Given the description of an element on the screen output the (x, y) to click on. 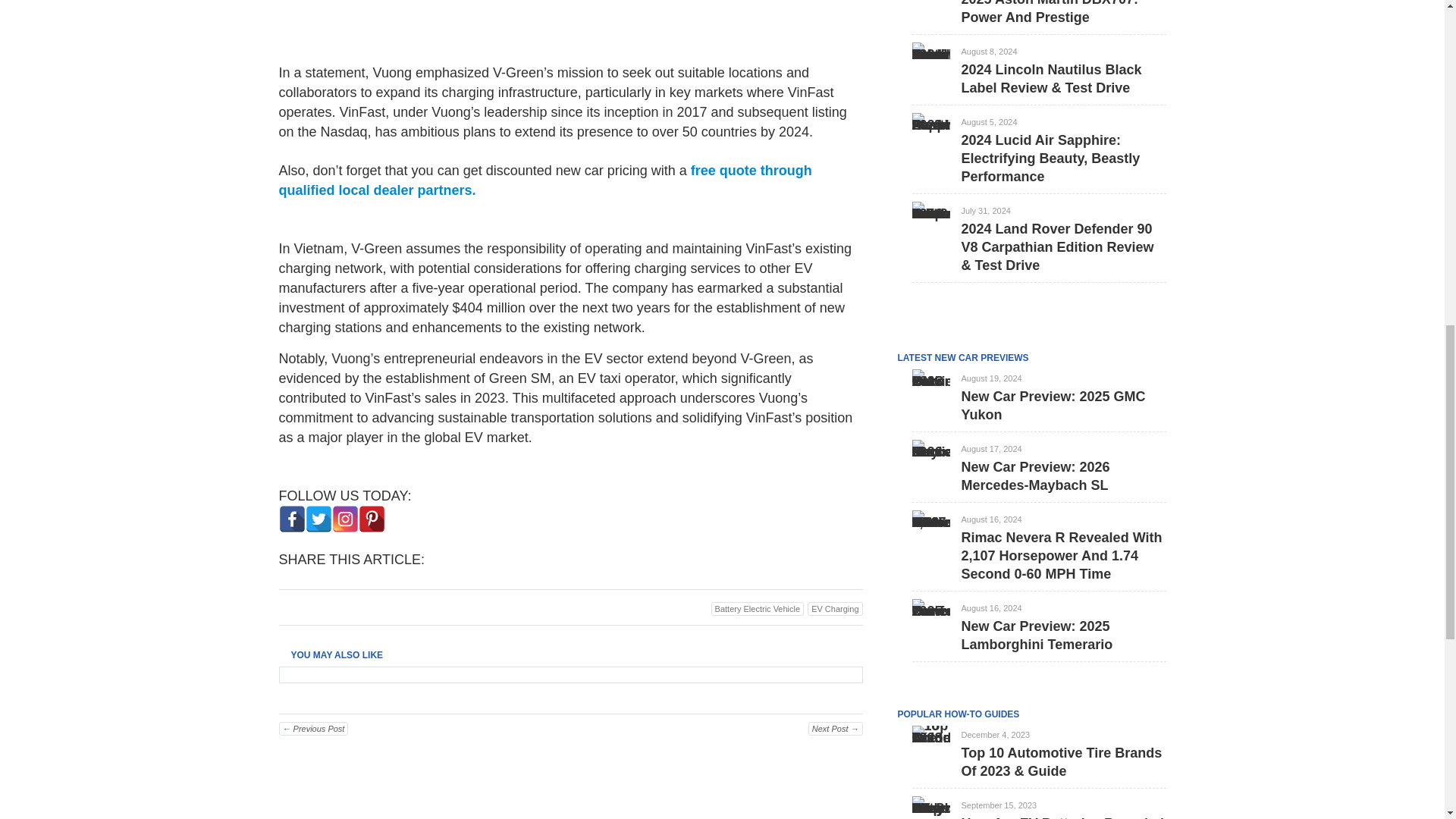
Facebook (292, 519)
Twitter (317, 519)
Pinterest (371, 519)
Instagram (344, 519)
